Given the description of an element on the screen output the (x, y) to click on. 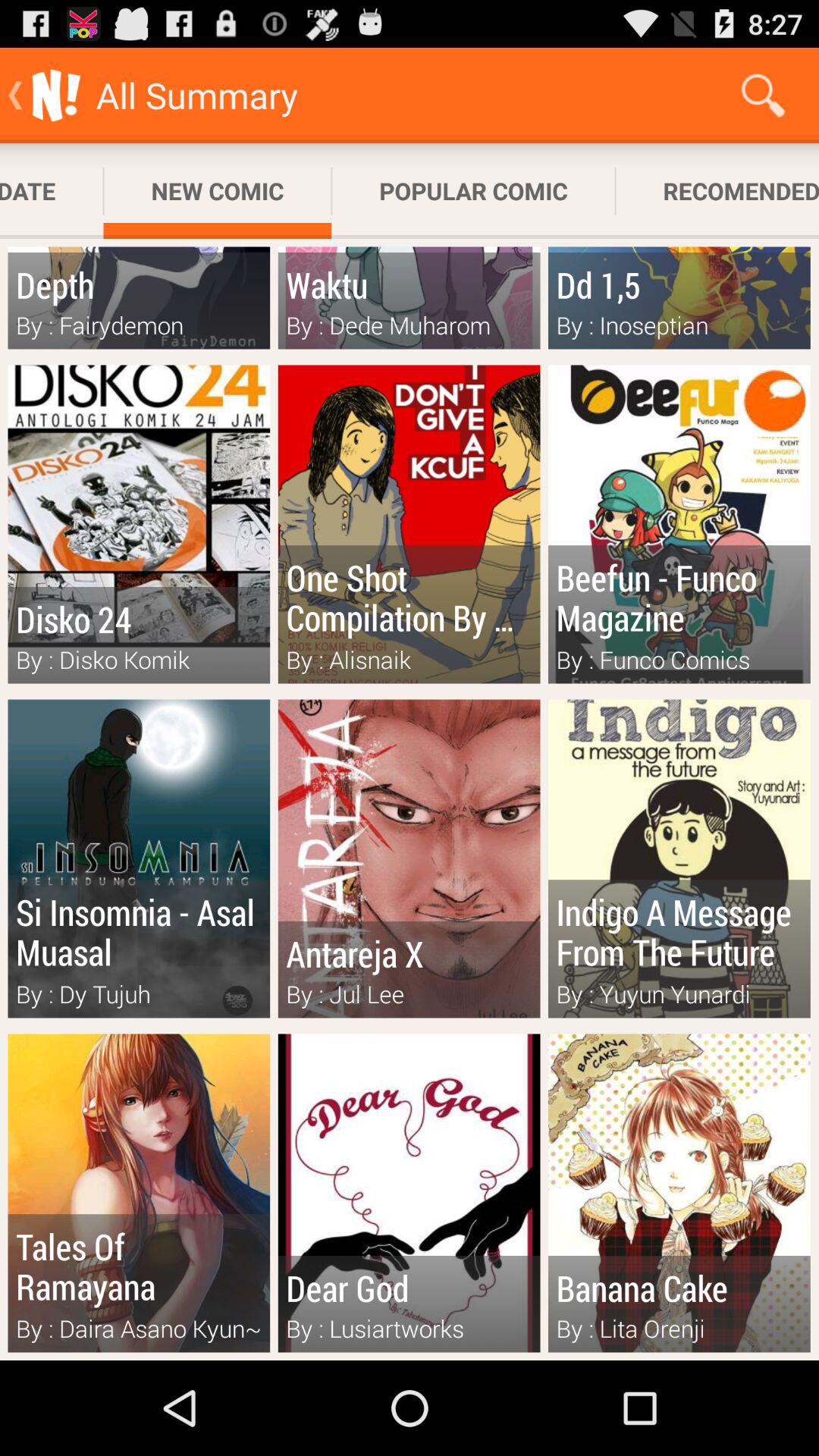
tap the app to the right of the new comic app (473, 190)
